Given the description of an element on the screen output the (x, y) to click on. 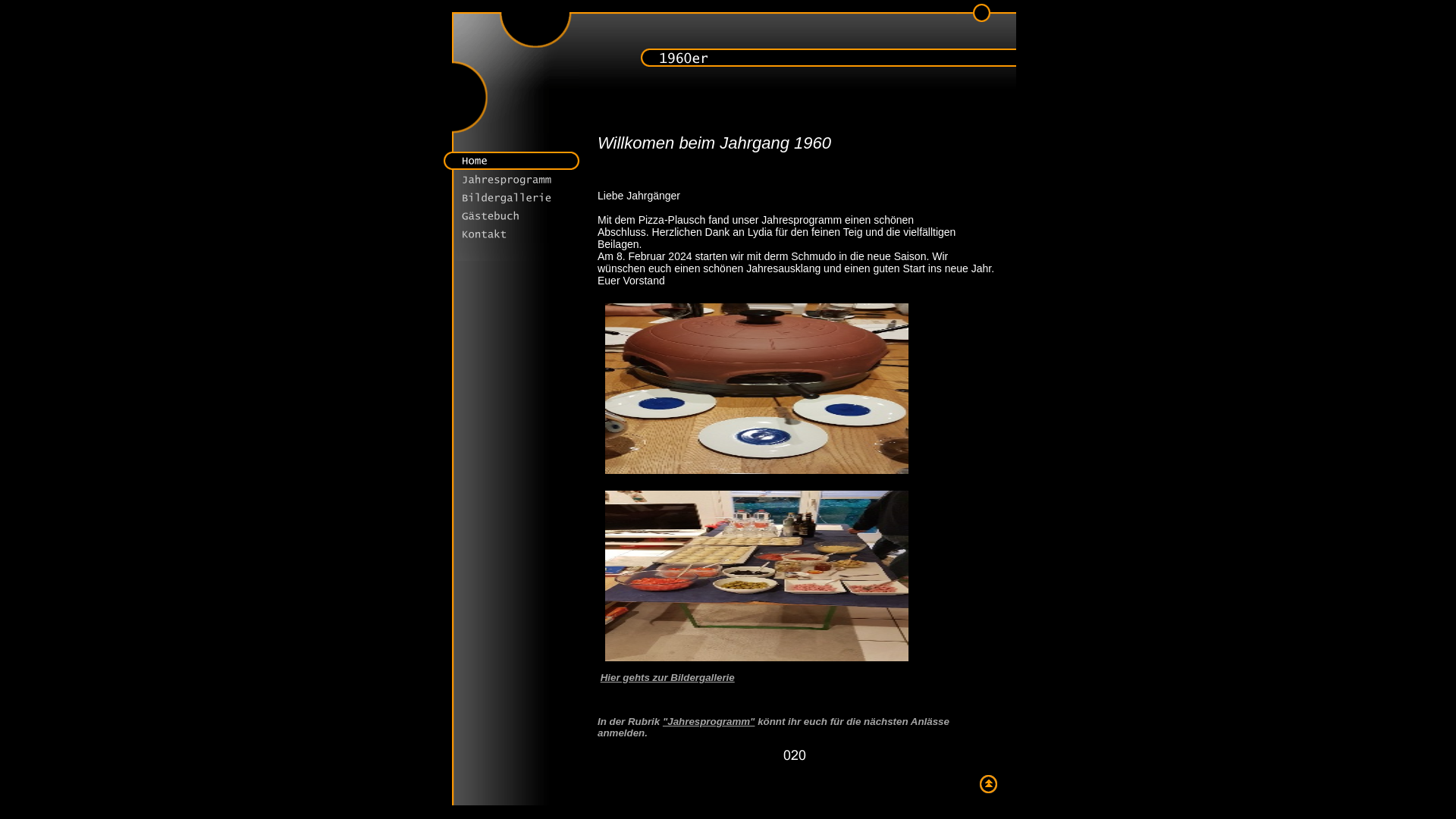
"Jahresprogramm" Element type: text (708, 721)
Hier gehts zur Bildergallerie Element type: text (667, 677)
